Given the description of an element on the screen output the (x, y) to click on. 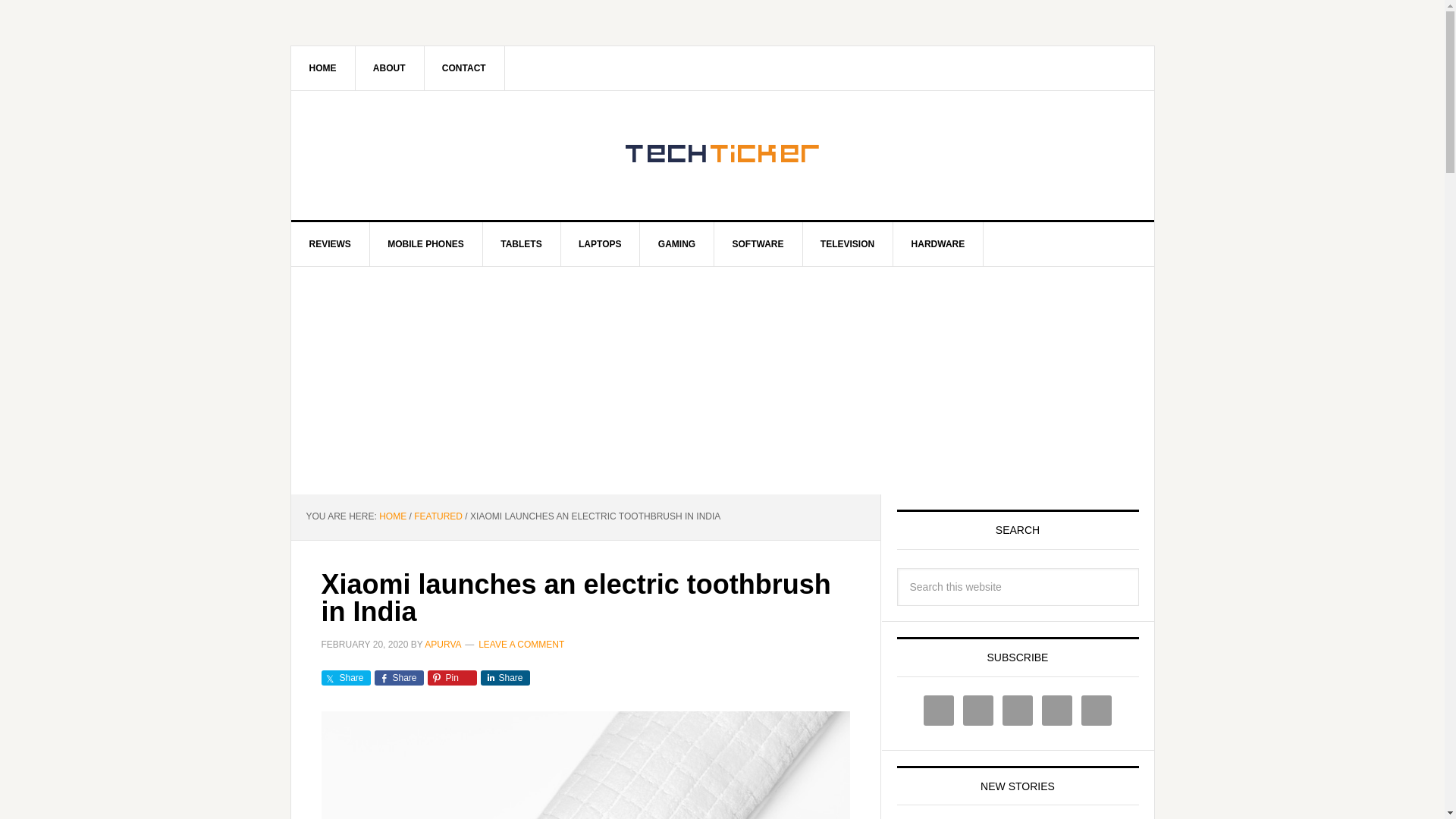
MOBILE PHONES (426, 243)
TELEVISION (847, 243)
HARDWARE (938, 243)
APURVA (443, 643)
Share (398, 677)
CONTACT (464, 67)
LEAVE A COMMENT (521, 643)
ABOUT (390, 67)
Pin (452, 677)
REVIEWS (330, 243)
HOME (323, 67)
SOFTWARE (758, 243)
GAMING (677, 243)
